Given the description of an element on the screen output the (x, y) to click on. 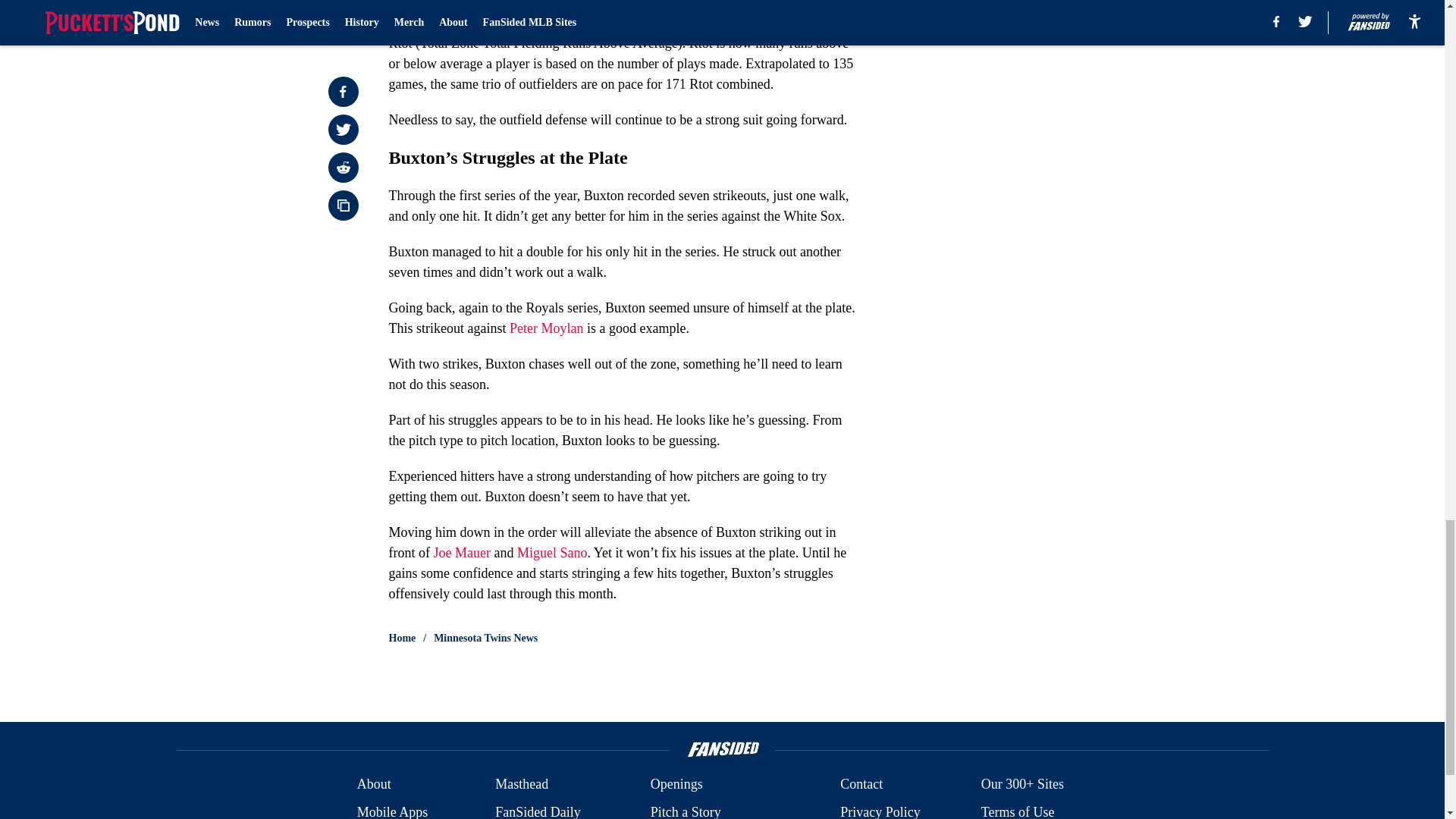
Peter Moylan (546, 328)
Contact (861, 783)
Masthead (521, 783)
Miguel Sano (552, 552)
Privacy Policy (880, 810)
Joe Mauer (460, 552)
FanSided Daily (537, 810)
About (373, 783)
Home (401, 638)
Openings (676, 783)
Terms of Use (1017, 810)
Minnesota Twins News (485, 638)
Mobile Apps (392, 810)
Pitch a Story (685, 810)
